Given the description of an element on the screen output the (x, y) to click on. 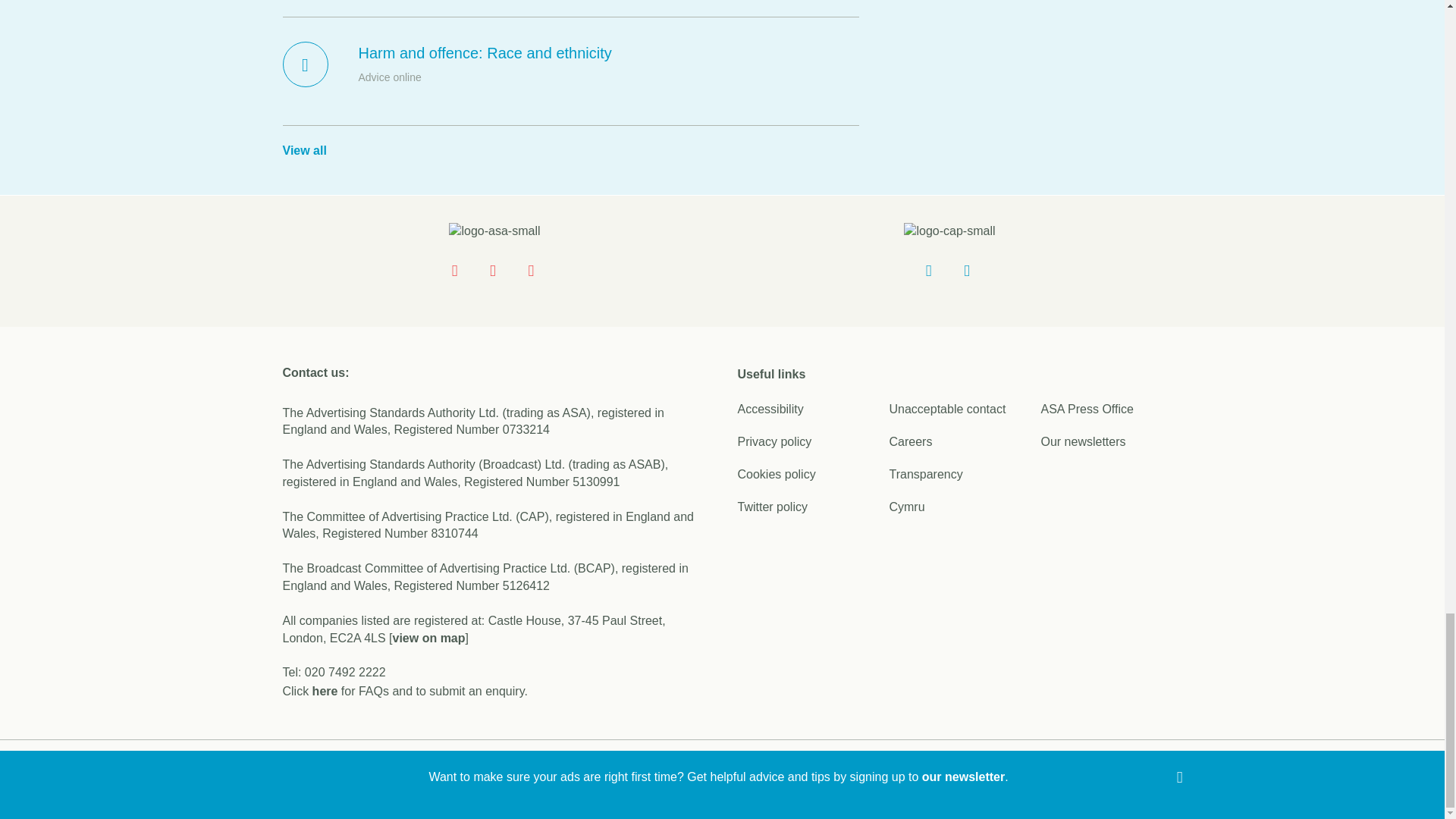
Careers (909, 440)
Privacy policy (773, 440)
Cookies policy (775, 473)
Accessibility (769, 408)
Transparency (925, 473)
Our newsletters (1083, 440)
